Given the description of an element on the screen output the (x, y) to click on. 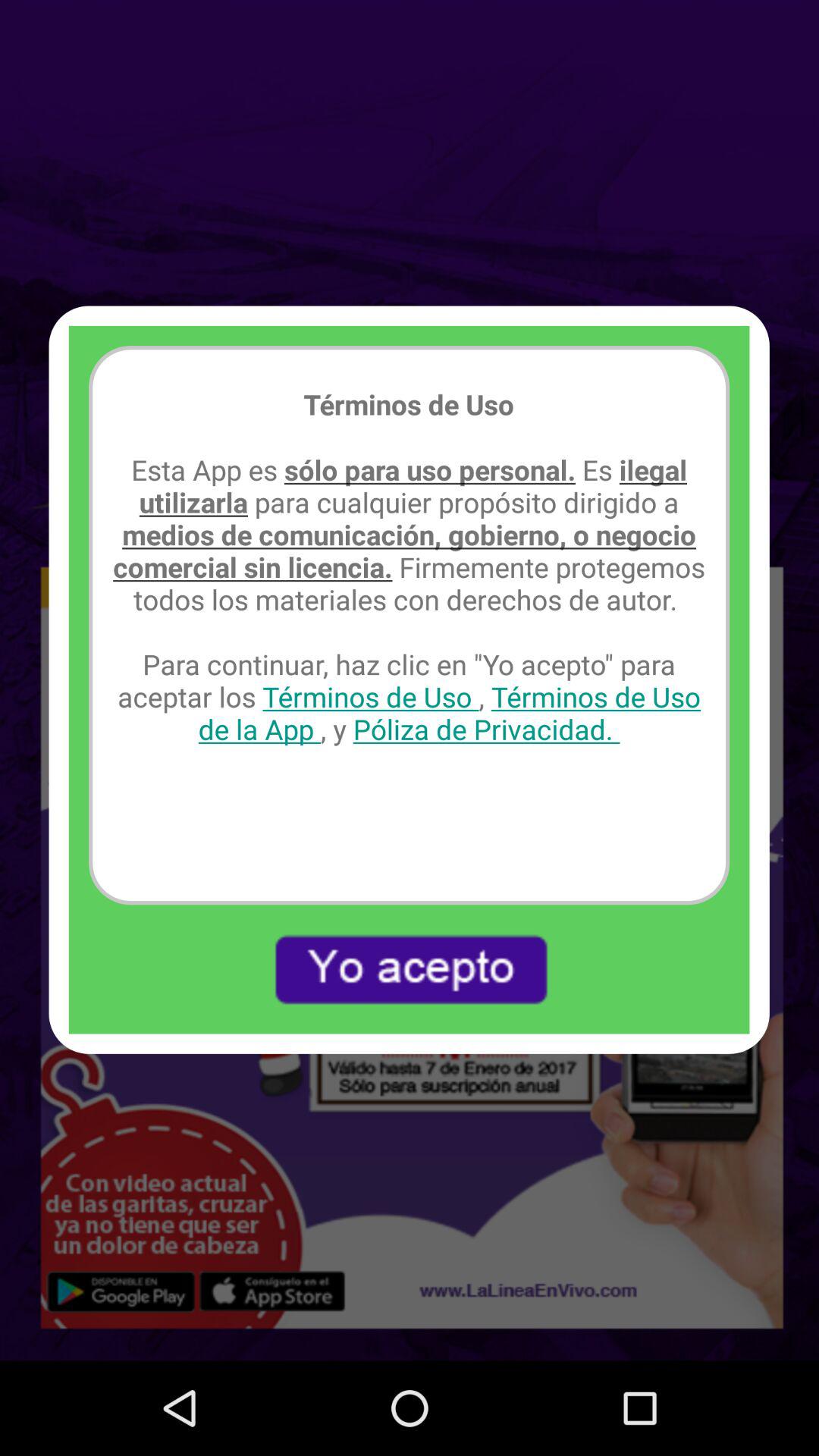
open the esta app es app (408, 599)
